Given the description of an element on the screen output the (x, y) to click on. 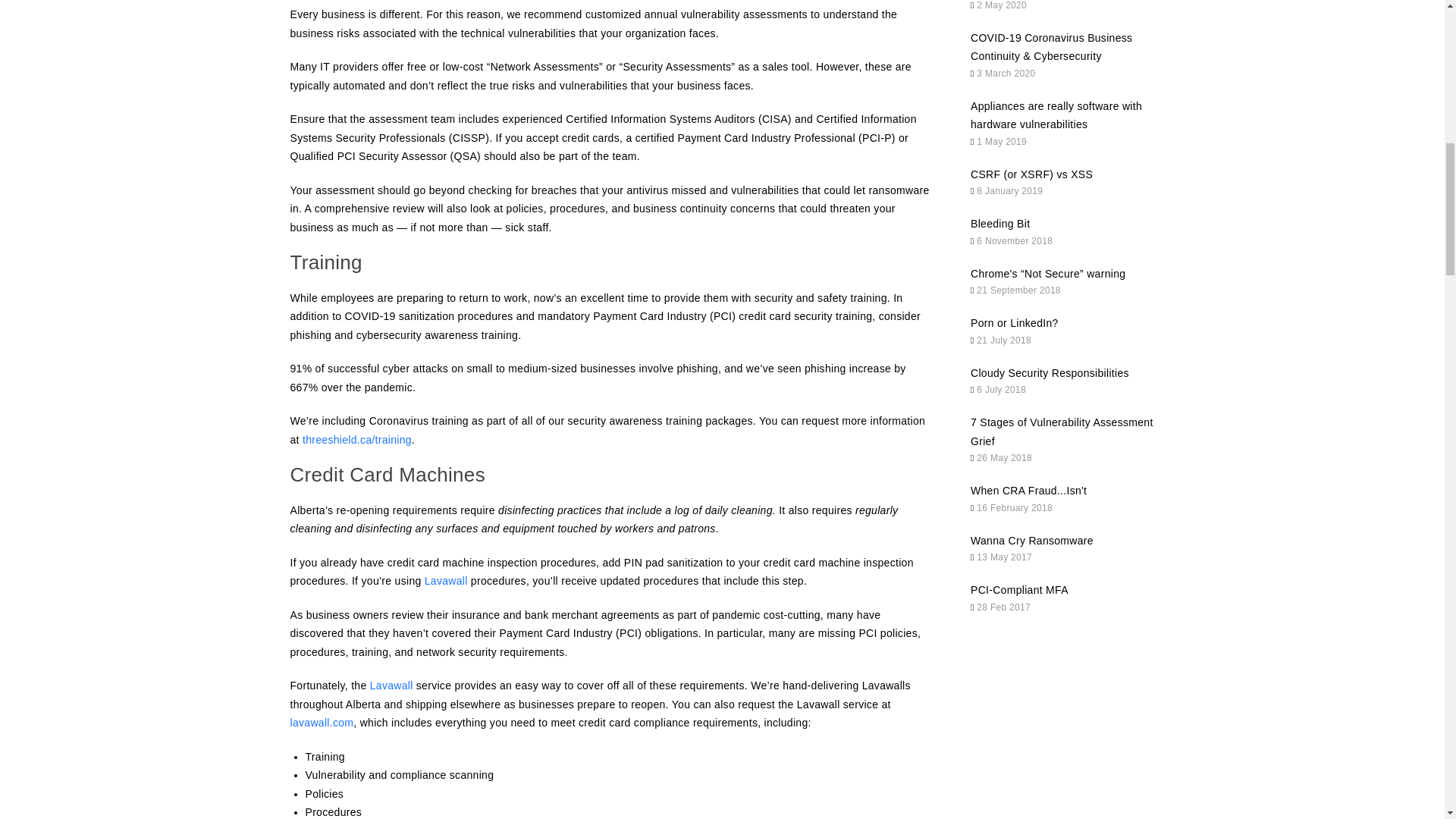
Lavawall (391, 685)
lavawall.com (321, 722)
Lavawall (446, 580)
